Given the description of an element on the screen output the (x, y) to click on. 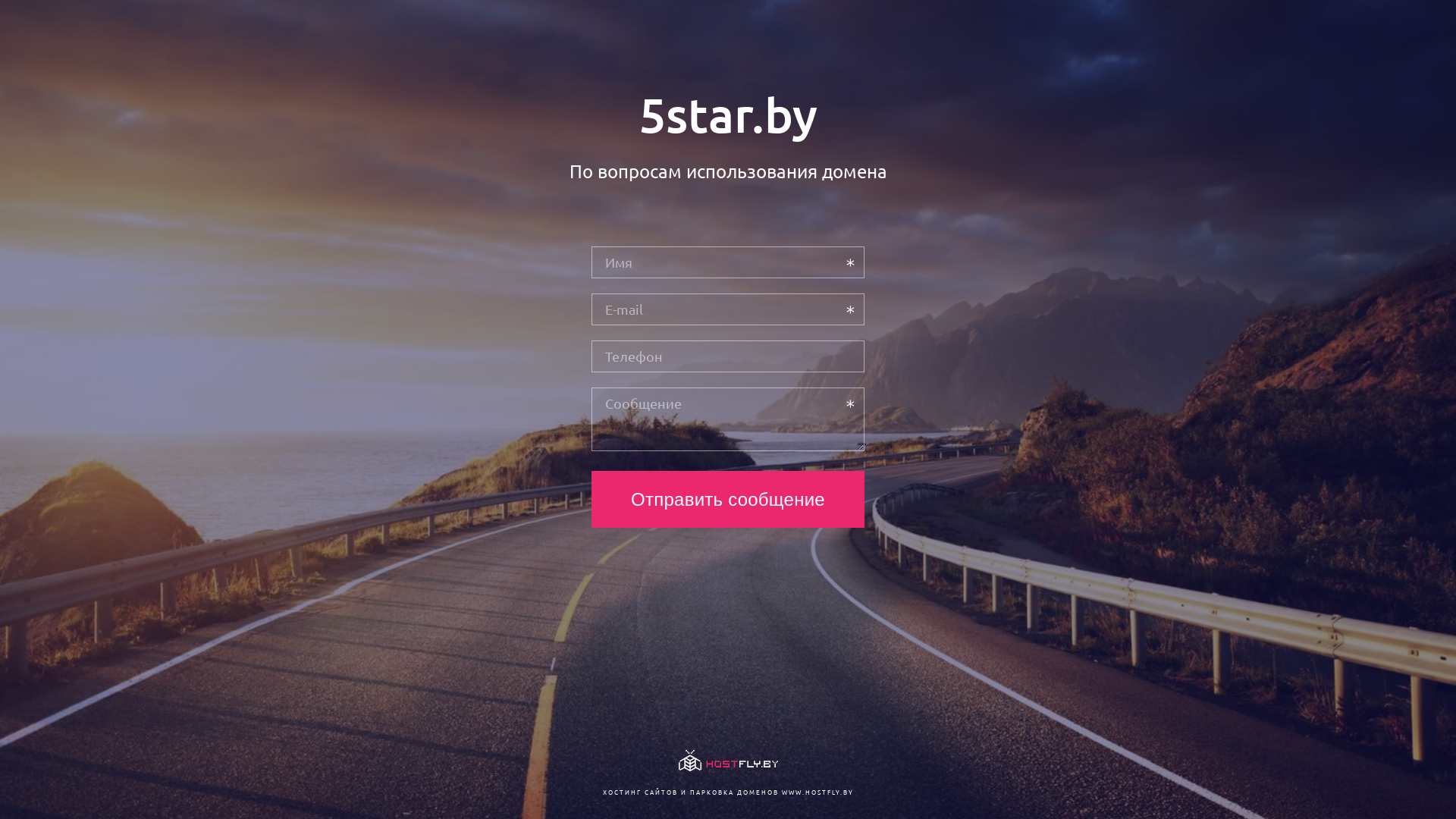
WWW.HOSTFLY.BY Element type: text (817, 791)
